Given the description of an element on the screen output the (x, y) to click on. 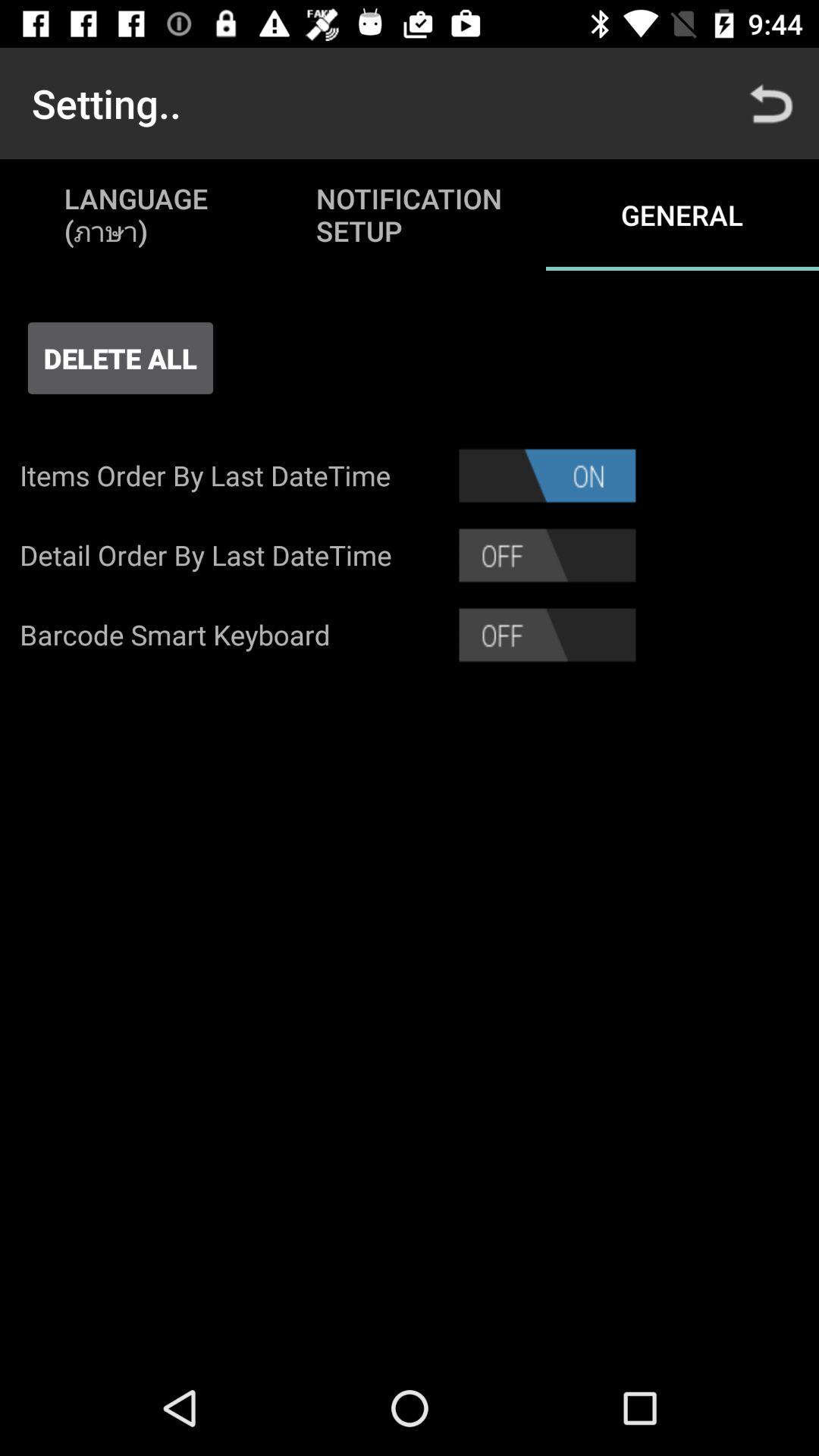
choose the icon above the general icon (771, 103)
